Given the description of an element on the screen output the (x, y) to click on. 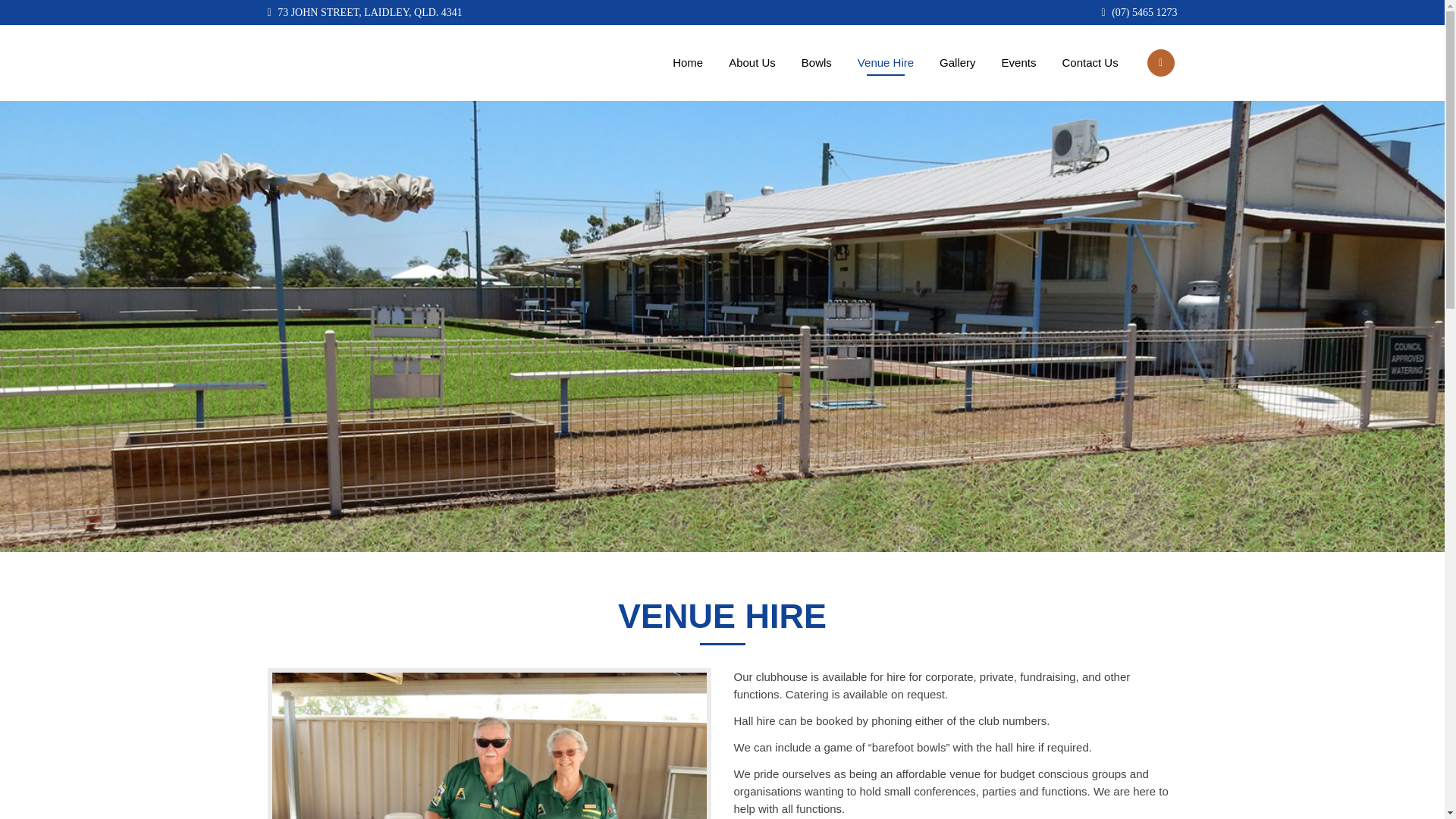
About Us (752, 62)
Contact Us (1089, 62)
Venue Hire (885, 62)
